Given the description of an element on the screen output the (x, y) to click on. 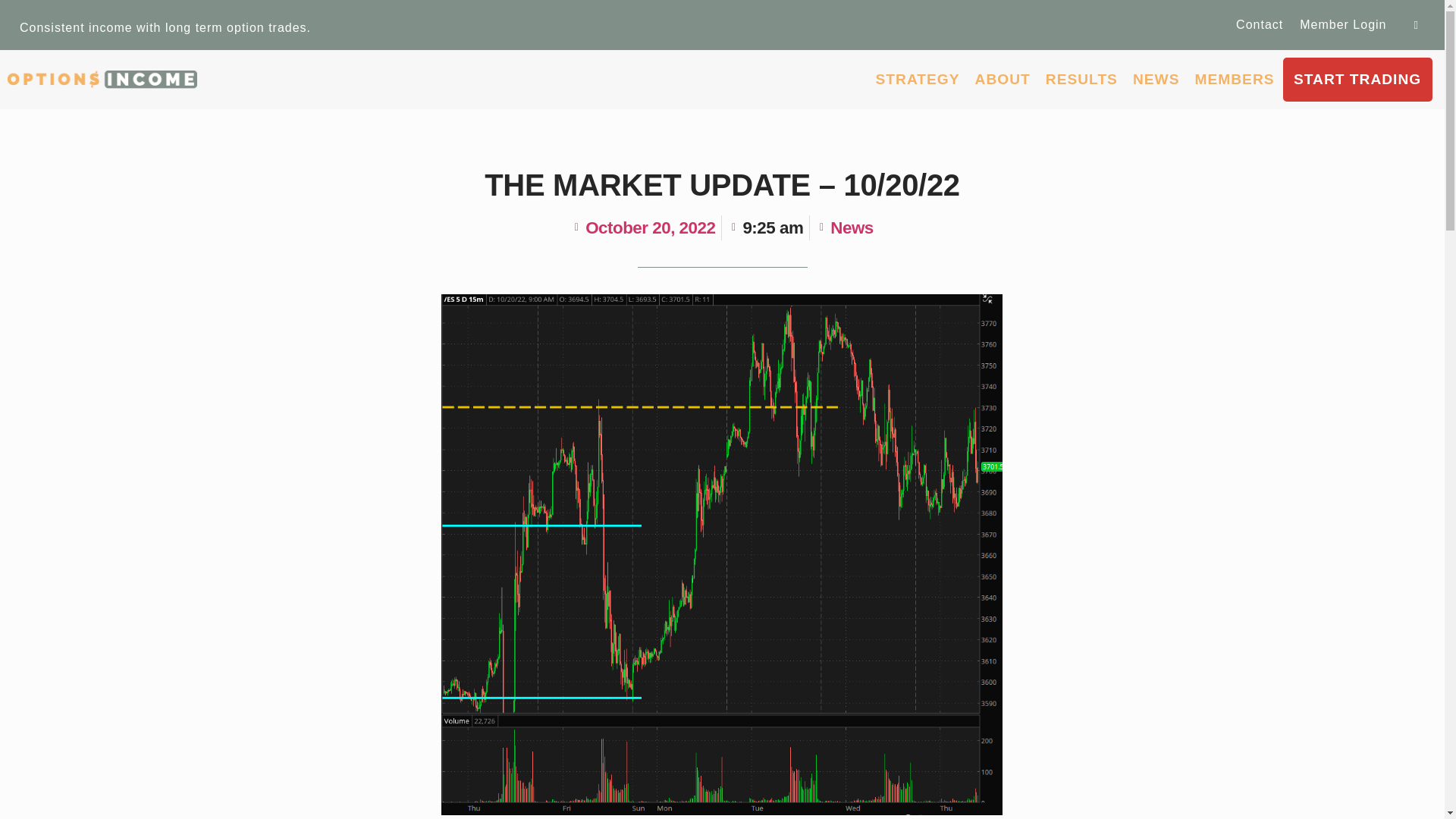
Member Login (1342, 24)
ABOUT (1003, 79)
STRATEGY (917, 79)
MEMBERS (1233, 79)
Contact (1259, 24)
RESULTS (1081, 79)
NEWS (1156, 79)
